Given the description of an element on the screen output the (x, y) to click on. 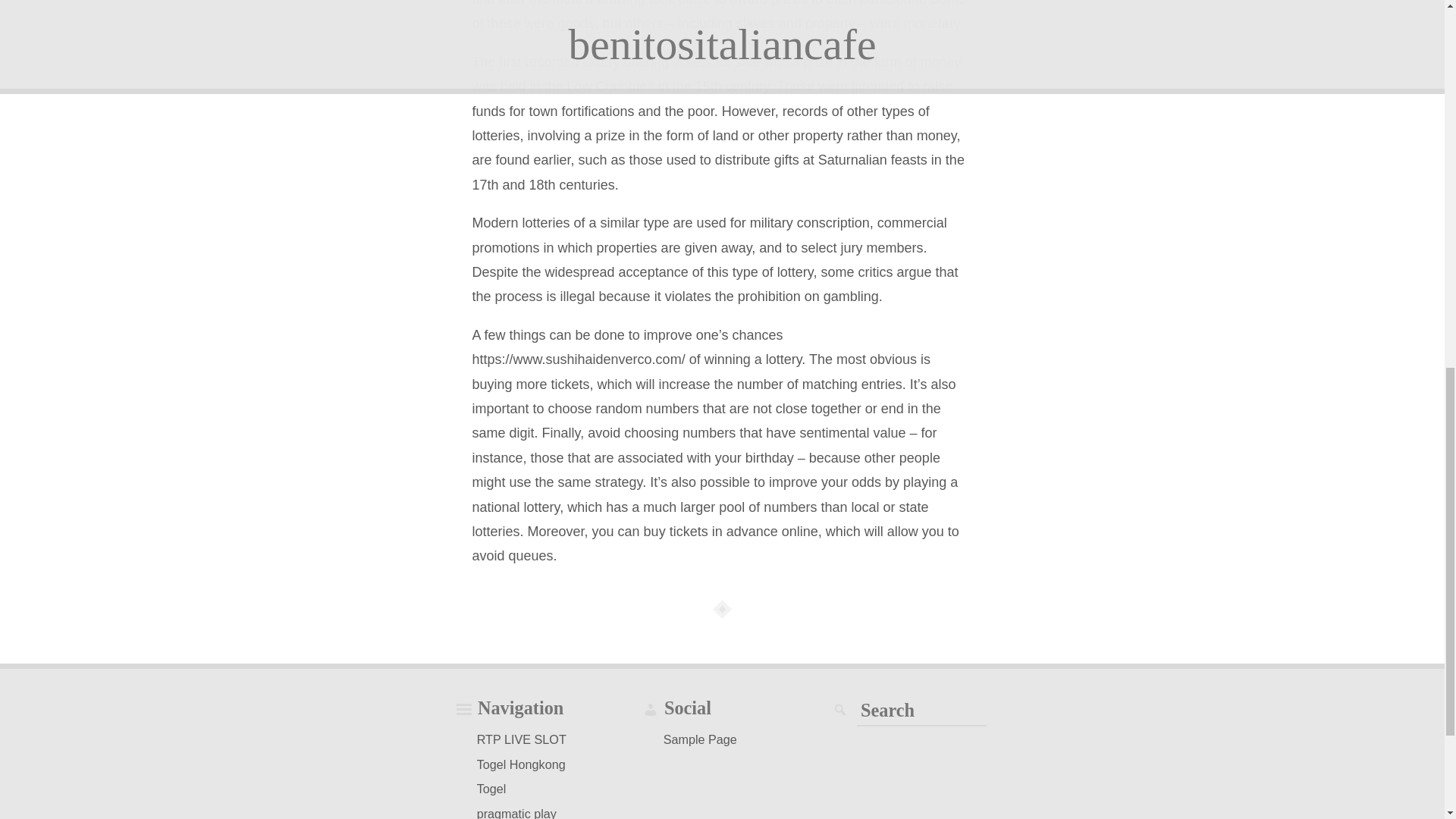
Sample Page (700, 739)
RTP LIVE SLOT (521, 739)
Togel (491, 788)
Togel Hongkong (521, 763)
